Given the description of an element on the screen output the (x, y) to click on. 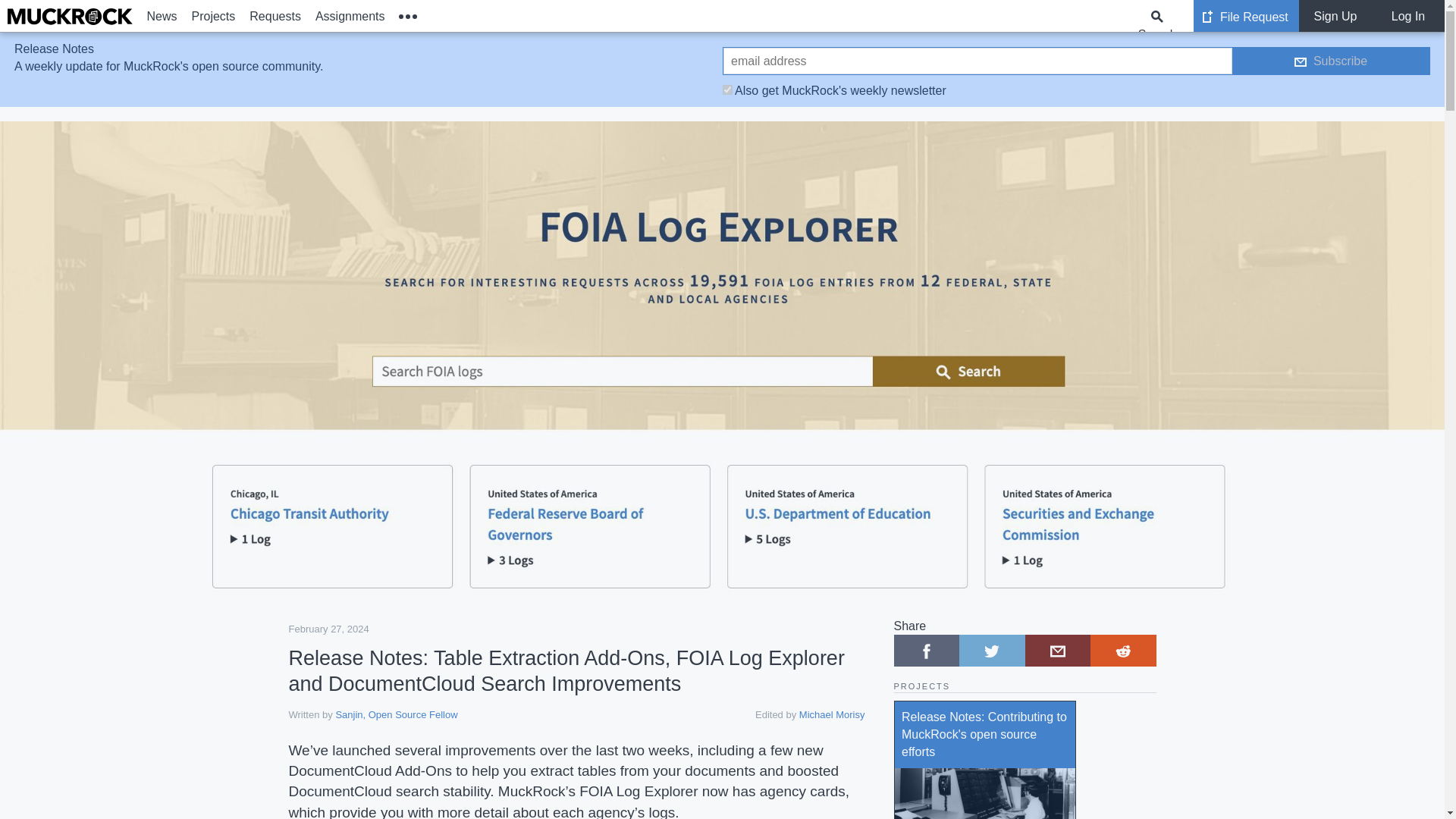
Create Request (1206, 16)
Create Request File Request (1245, 15)
MuckRock Logotype A boldfaced logotype that spells MuckRock. (69, 15)
on (727, 90)
Michael Morisy (831, 714)
Assignments (349, 15)
2024-02-27T11:45:27-05:00 (328, 628)
Email Icon resembling an envelope. Subscribe (1330, 60)
Sanjin, Open Source Fellow (395, 714)
Requests (275, 15)
Sign Up (1334, 15)
Michael Morisy (831, 714)
MuckRock Logotype A boldfaced logotype that spells MuckRock. (69, 16)
